Given the description of an element on the screen output the (x, y) to click on. 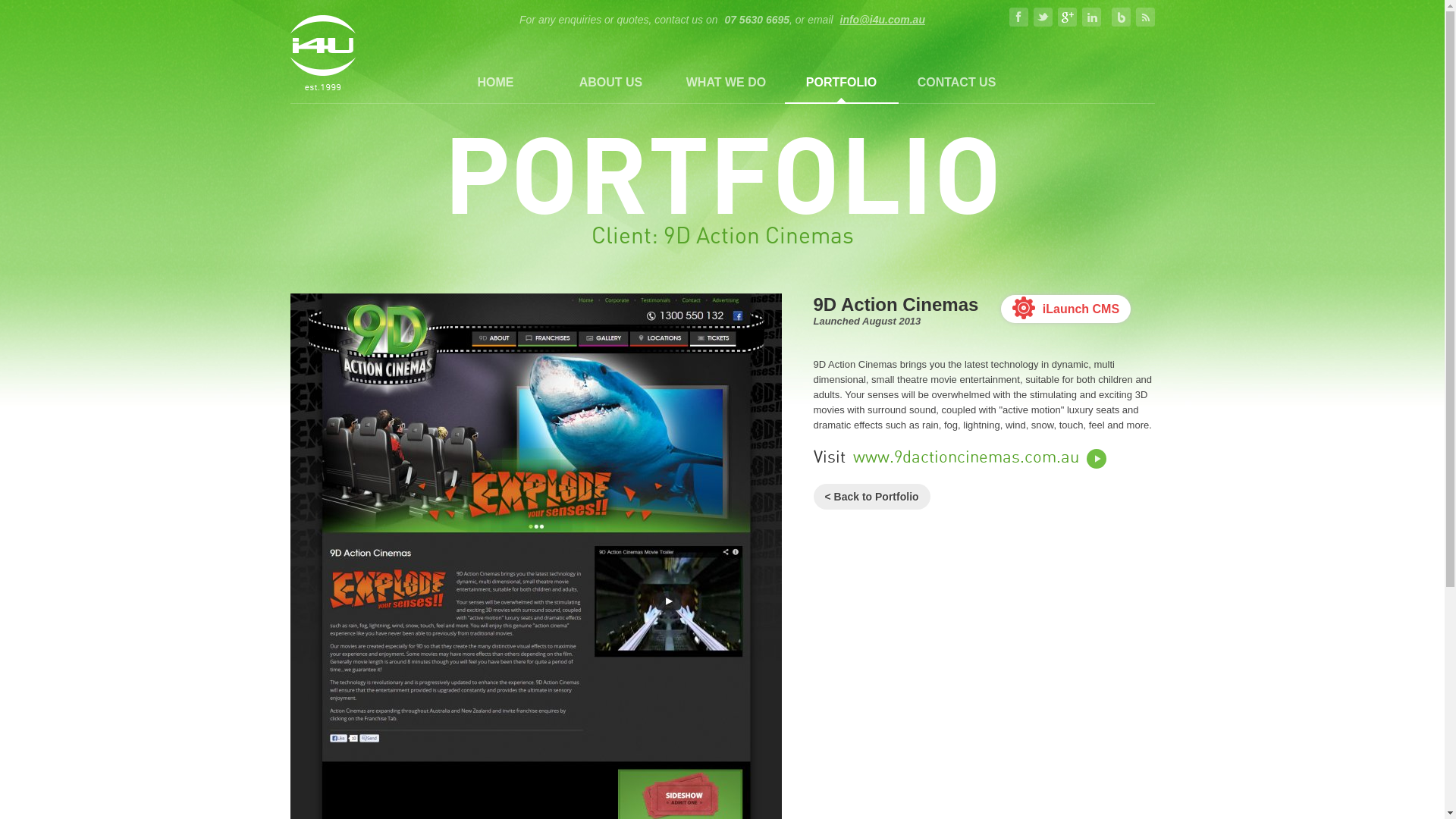
Blog Element type: hover (1120, 16)
< Back to Portfolio Element type: text (870, 496)
Find us on Facebook Element type: hover (1018, 16)
info@i4u.com.au Element type: text (880, 19)
WHAT WE DO Element type: text (725, 81)
ABOUT US Element type: text (610, 81)
www.9dactioncinemas.com.au   Element type: text (978, 458)
Find us on Google+ Element type: hover (1066, 16)
Subscribe to Blog RSS Feed Element type: hover (1144, 16)
HOME Element type: text (495, 81)
PORTFOLIO Element type: text (840, 81)
Follow us on Twitter - @i4uonline Element type: hover (1042, 16)
Follow us on Linked In Element type: hover (1091, 16)
CONTACT US Element type: text (956, 81)
iLaunch CMS Element type: text (1065, 308)
